Given the description of an element on the screen output the (x, y) to click on. 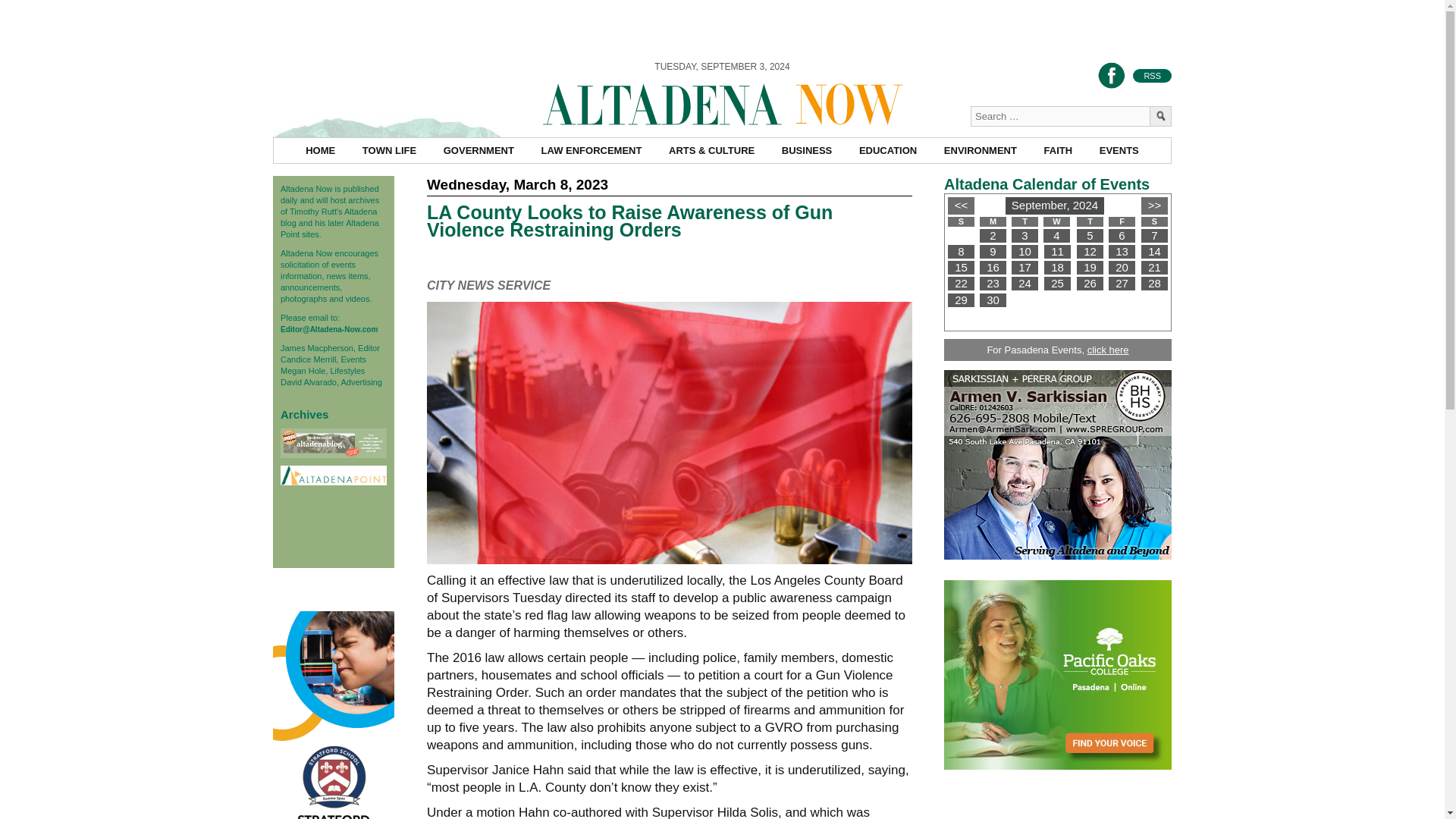
GOVERNMENT (478, 150)
Archives (305, 414)
FAITH (1058, 150)
Search for: (1071, 116)
HOME (319, 150)
Search (1160, 116)
BUSINESS (806, 150)
LAW ENFORCEMENT (591, 150)
ENVIRONMENT (979, 150)
TOWN LIFE (389, 150)
